Given the description of an element on the screen output the (x, y) to click on. 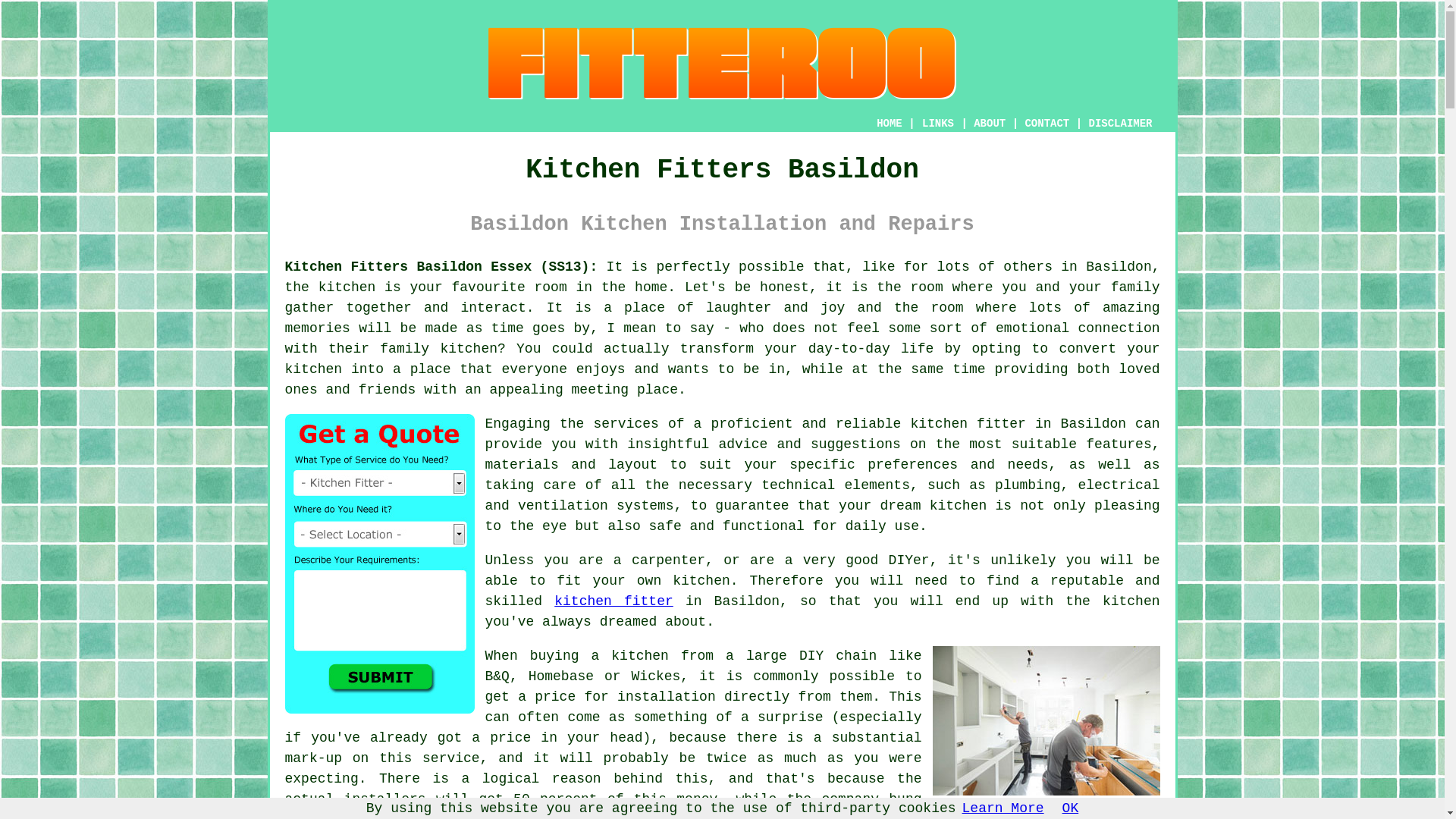
LINKS (938, 123)
Kitchen Fitters Basildon Essex (1046, 720)
HOME (889, 123)
kitchen fitter (967, 423)
kitchen fitter (613, 601)
